Given the description of an element on the screen output the (x, y) to click on. 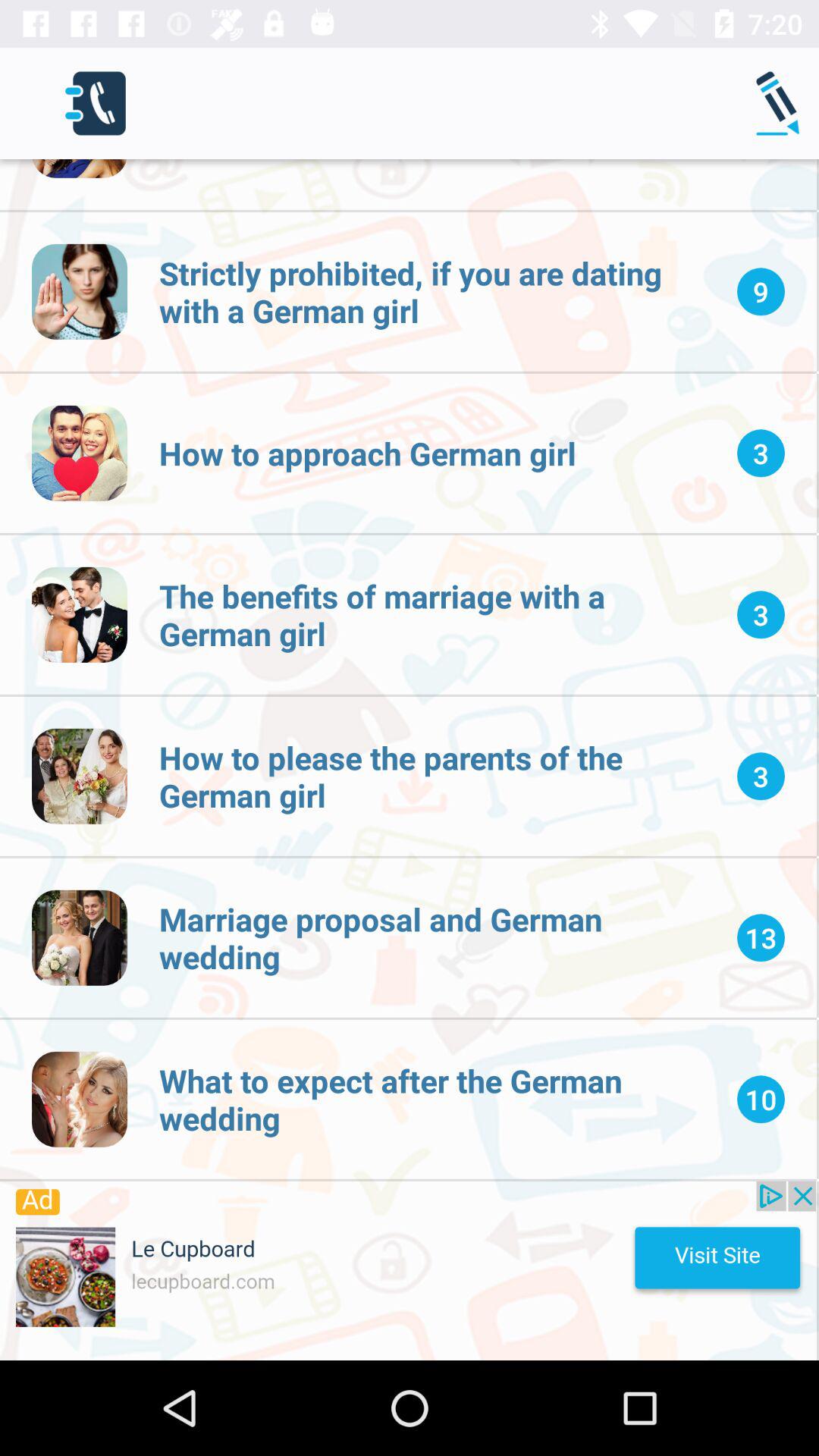
visit this website (408, 1270)
